Given the description of an element on the screen output the (x, y) to click on. 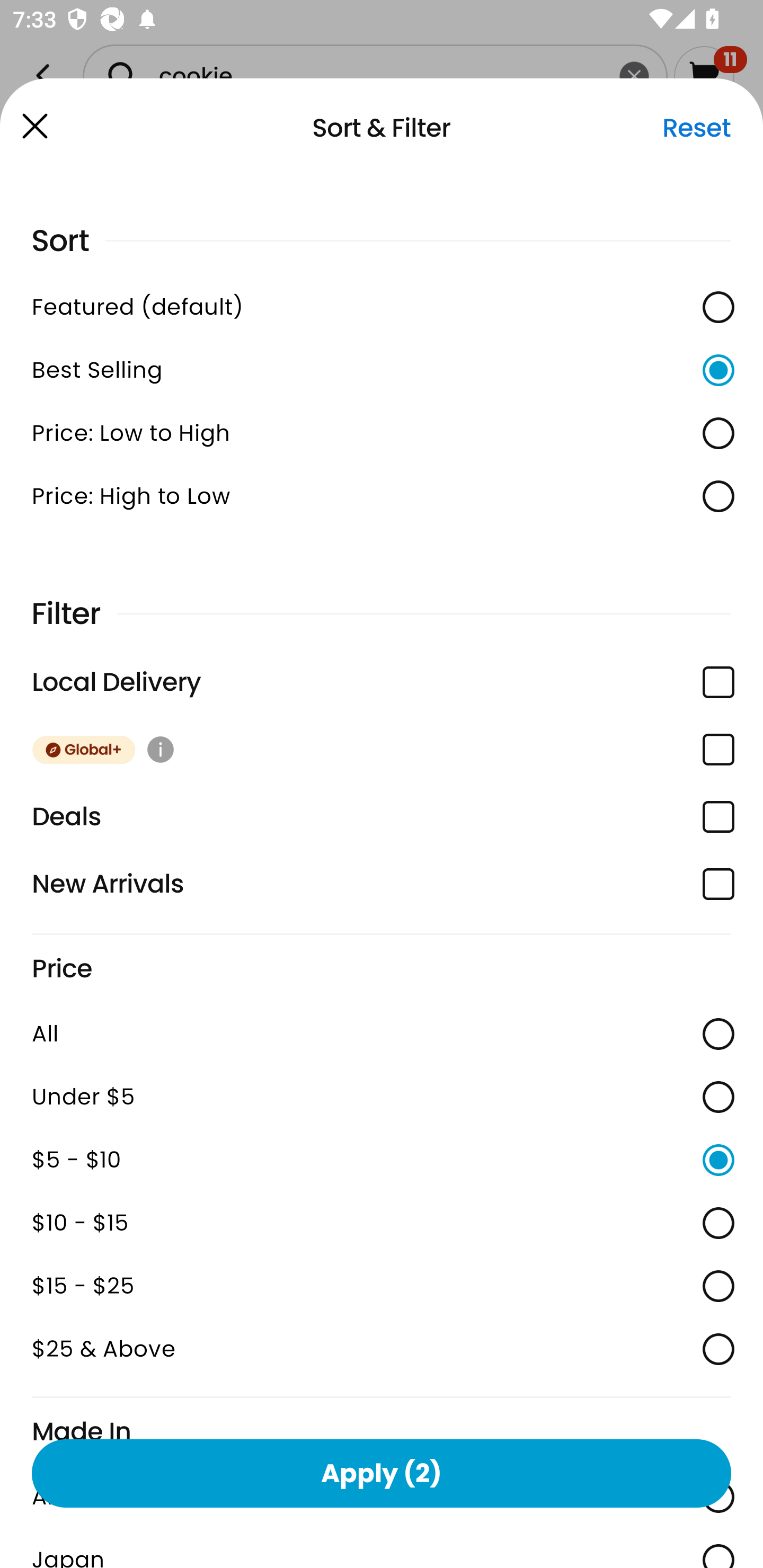
Reset (696, 127)
Apply (2) (381, 1472)
